Given the description of an element on the screen output the (x, y) to click on. 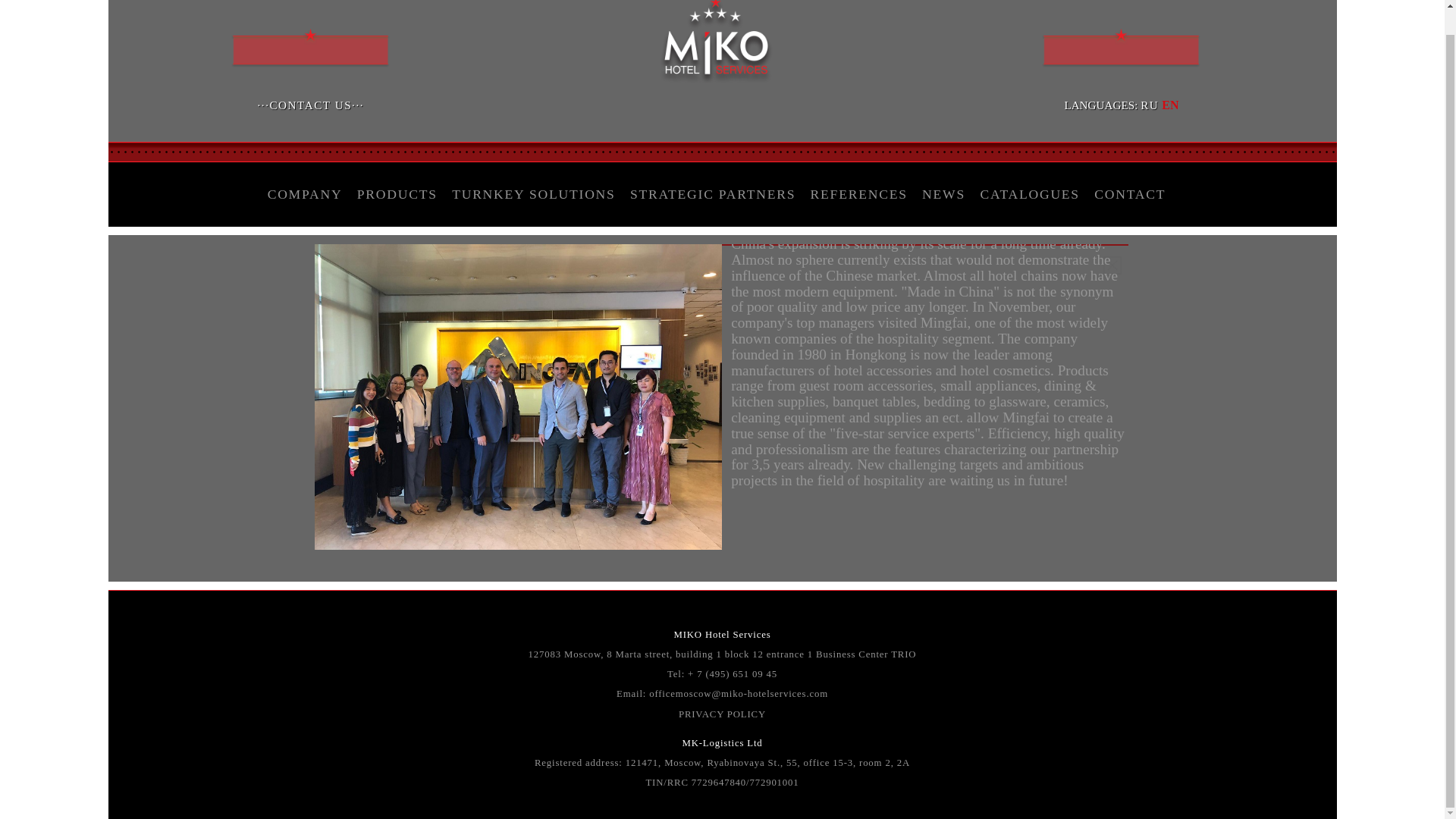
CATALOGUES (1029, 193)
RU (1149, 104)
CONTACT (1130, 193)
Strategic partners (712, 193)
COMPANY (304, 193)
STRATEGIC PARTNERS (712, 193)
MIKO Hotel Services - supplies for hotels and restaurants (716, 82)
NEWS (943, 193)
PRODUCTS (397, 193)
